Given the description of an element on the screen output the (x, y) to click on. 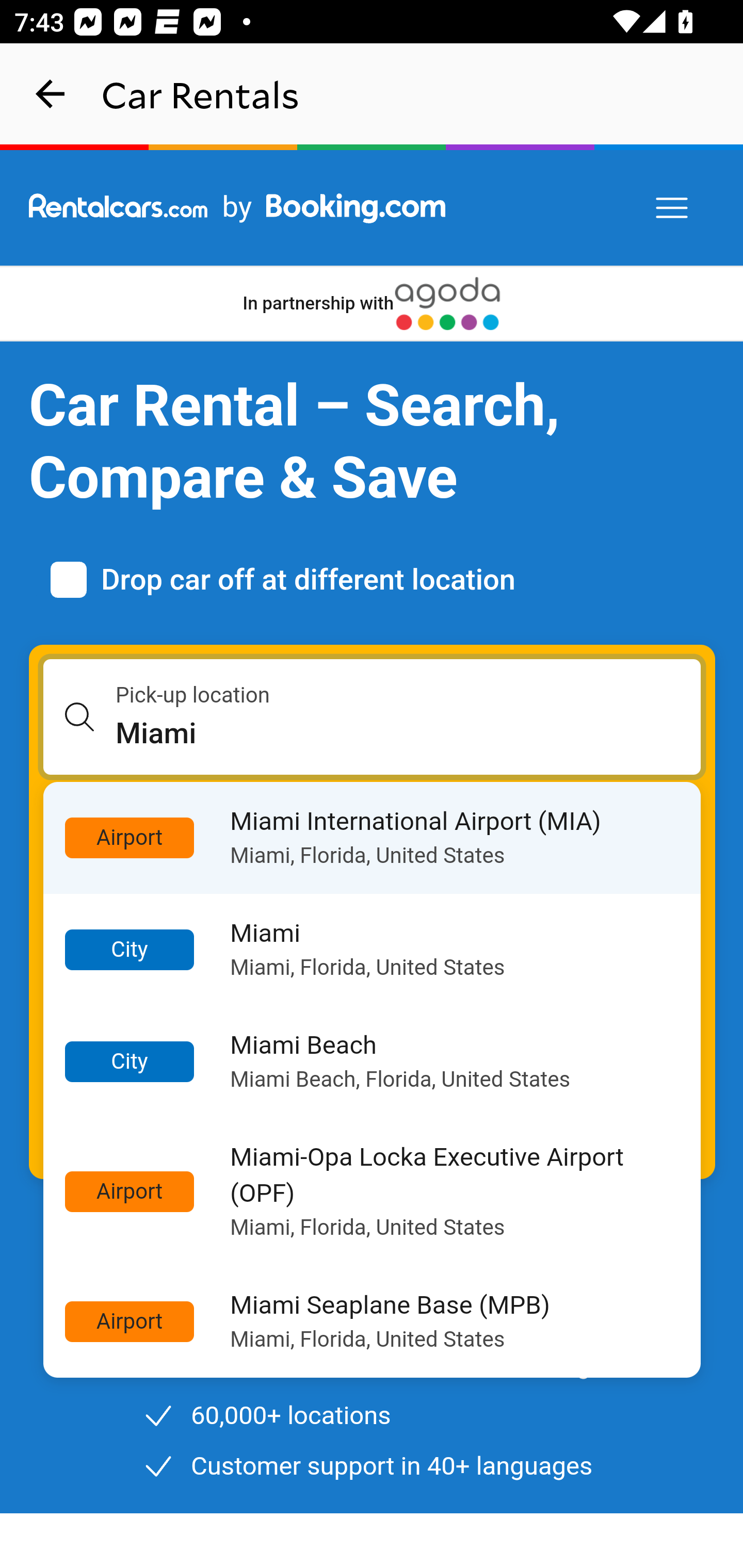
navigation_button (50, 93)
Menu (672, 208)
Pick-up location Miami (372, 717)
Miami (408, 733)
City Miami Miami, Florida, United States (372, 949)
